Given the description of an element on the screen output the (x, y) to click on. 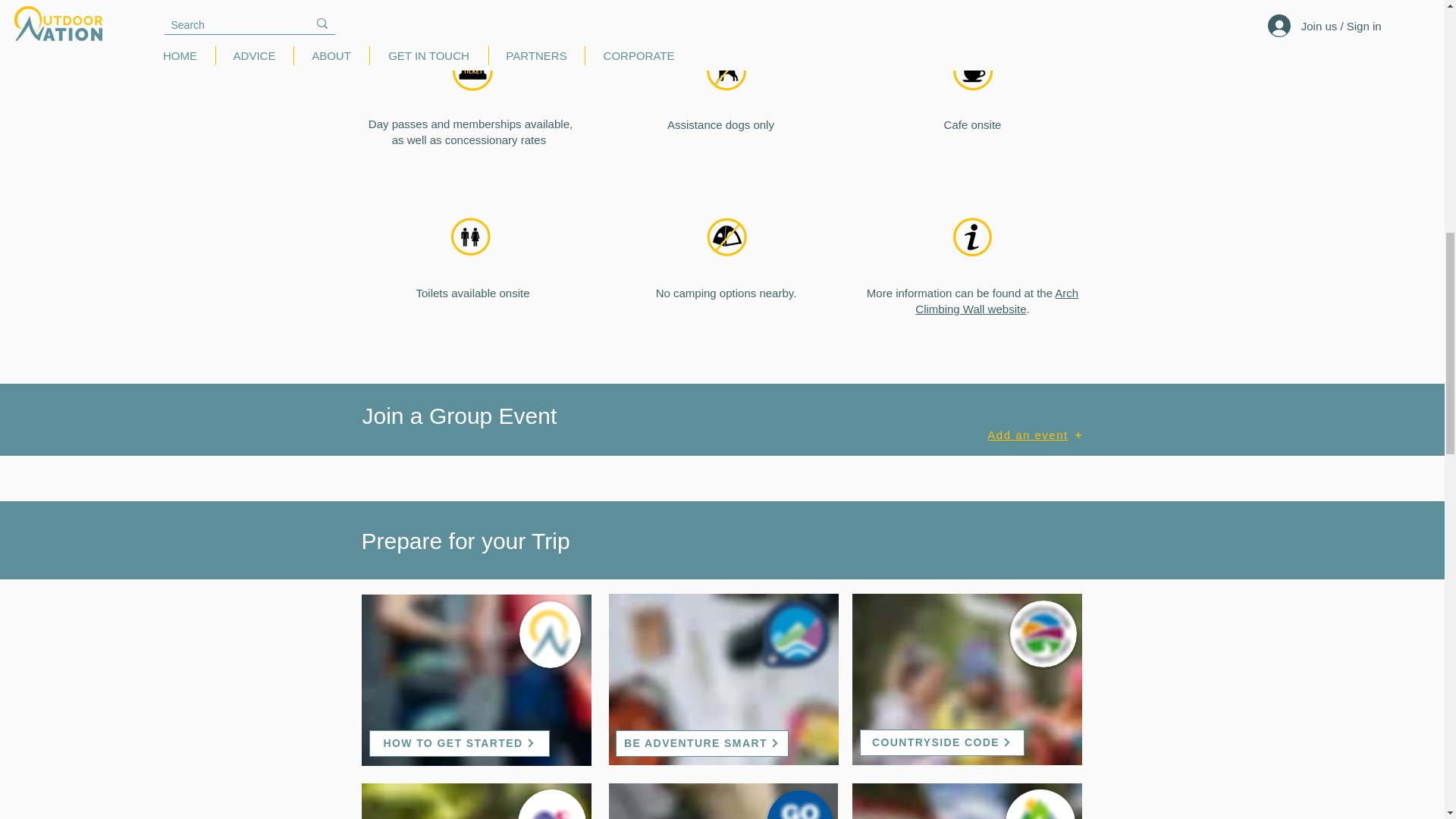
Preparing to Climb.jpg (476, 679)
BE ADVENTURE SMART (702, 743)
Add an event (1035, 435)
Pay to enter (472, 71)
No camping options nearby (727, 237)
The Met Offce (1040, 804)
Toilets available (470, 237)
COUNTRYSIDE CODE (942, 742)
Not suitable for dogs (724, 71)
HOW TO GET STARTED (458, 743)
Suggest an update (1015, 14)
Arch Climbing Wall website (996, 300)
Outdoor Nation (549, 634)
Climbing kit - Go Outdoors.jpg (722, 800)
Go Outdoors (799, 804)
